Given the description of an element on the screen output the (x, y) to click on. 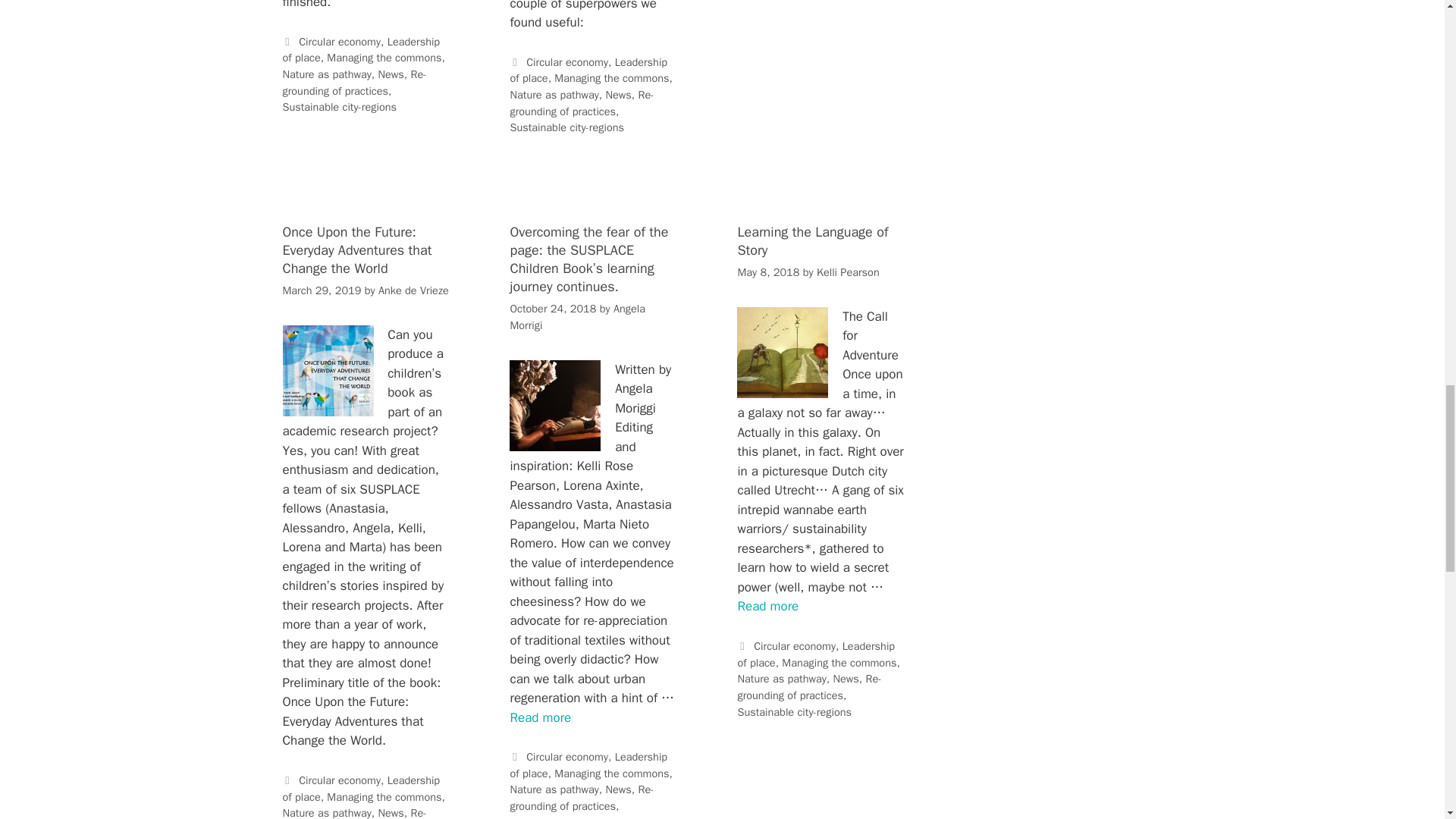
View all posts by Anke de Vrieze (413, 290)
View all posts by Angela Morrigi (577, 317)
View all posts by Kelli Pearson (847, 272)
Learning the Language of Story (766, 606)
